Given the description of an element on the screen output the (x, y) to click on. 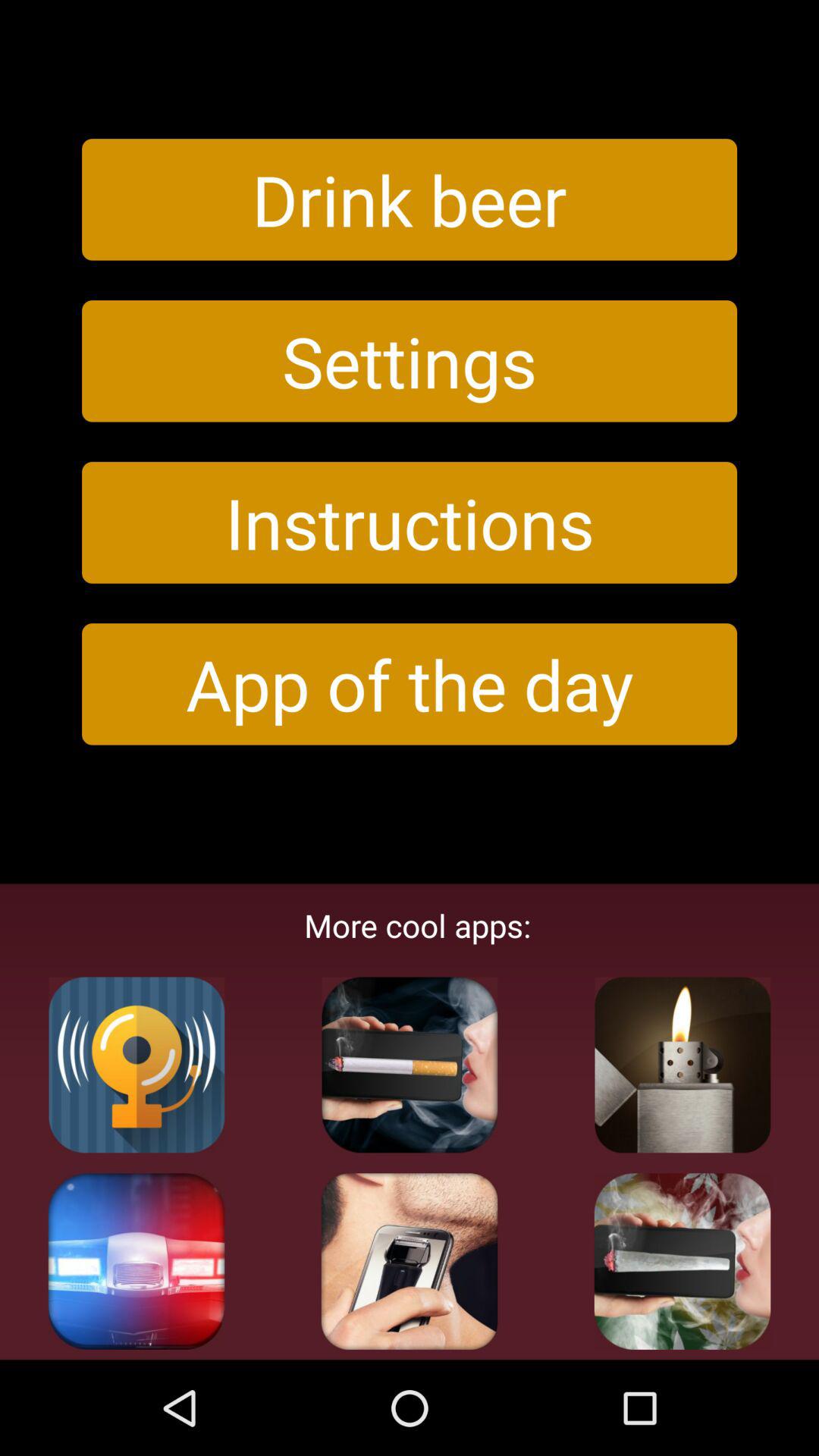
tap the drink beer button (409, 199)
